Given the description of an element on the screen output the (x, y) to click on. 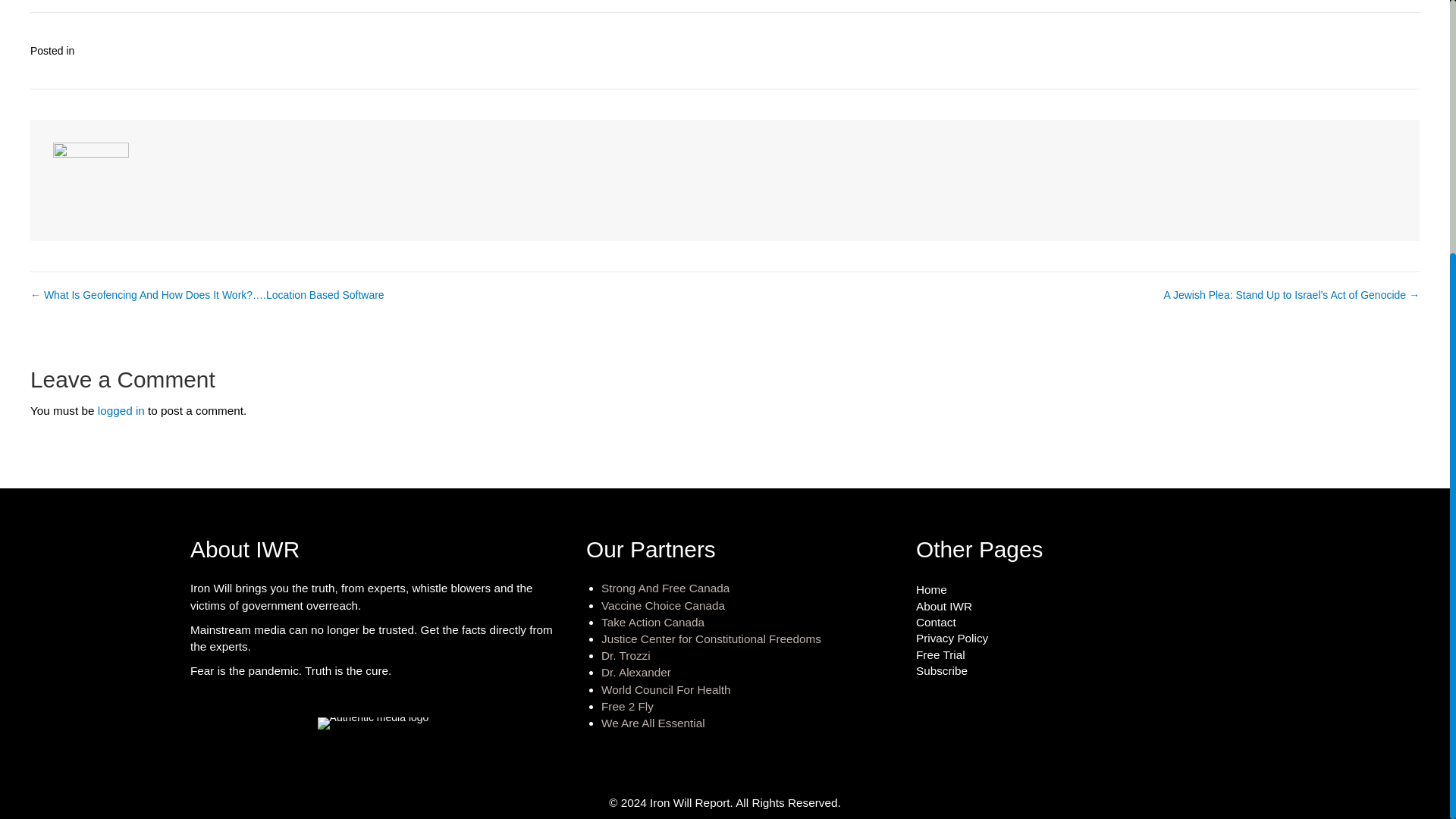
Authentic media logo (373, 723)
